Given the description of an element on the screen output the (x, y) to click on. 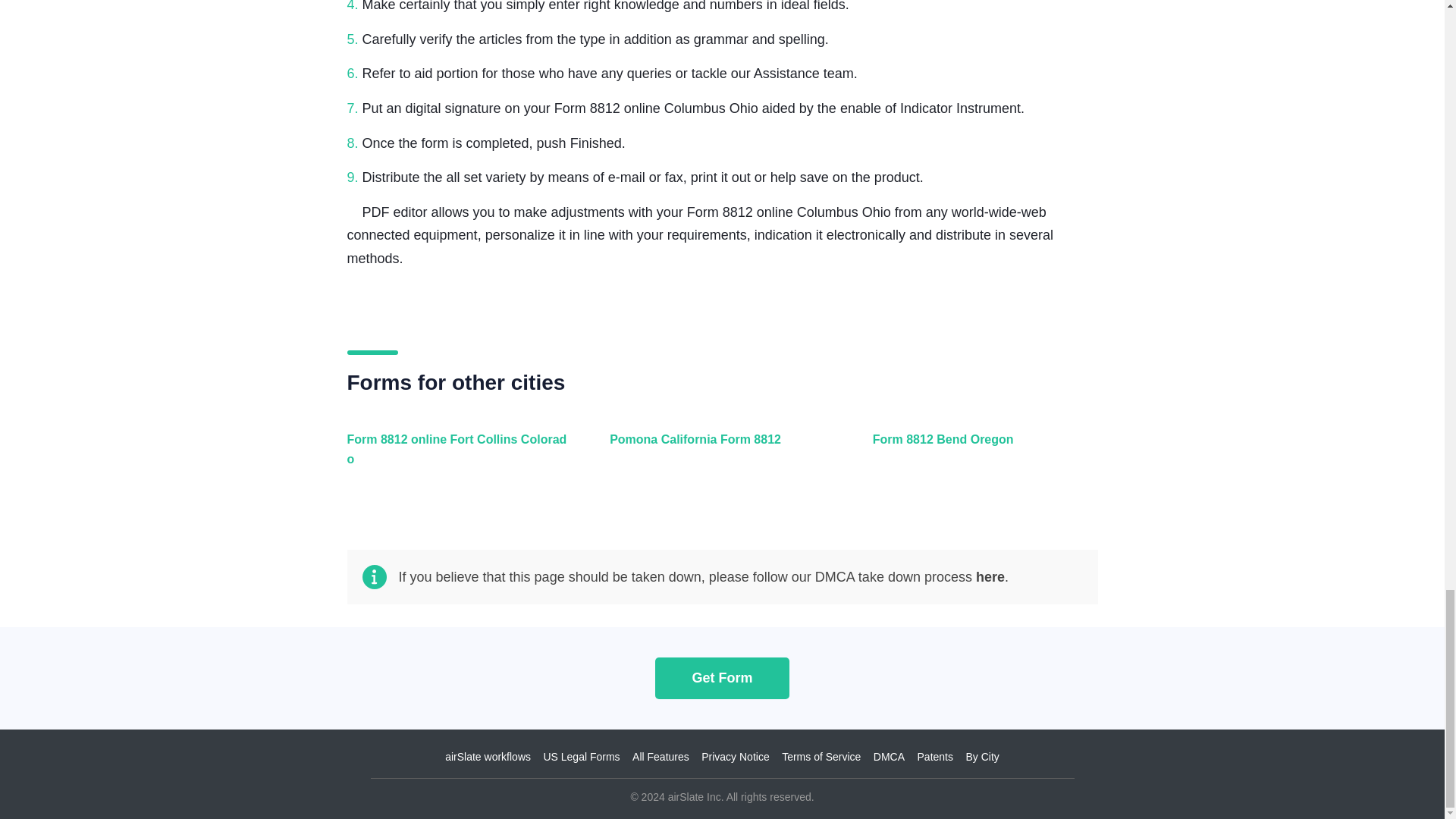
All Features (659, 756)
US Legal Forms (581, 756)
Patents (935, 756)
Form 8812 online Fort Collins Colorado (456, 457)
Form 8812 Bend Oregon (981, 457)
DMCA (888, 756)
airSlate workflows (488, 756)
Pomona California Form 8812 (718, 457)
here (989, 576)
Terms of Service (820, 756)
Privacy Notice (734, 756)
Get Form (722, 677)
By City (981, 756)
